Given the description of an element on the screen output the (x, y) to click on. 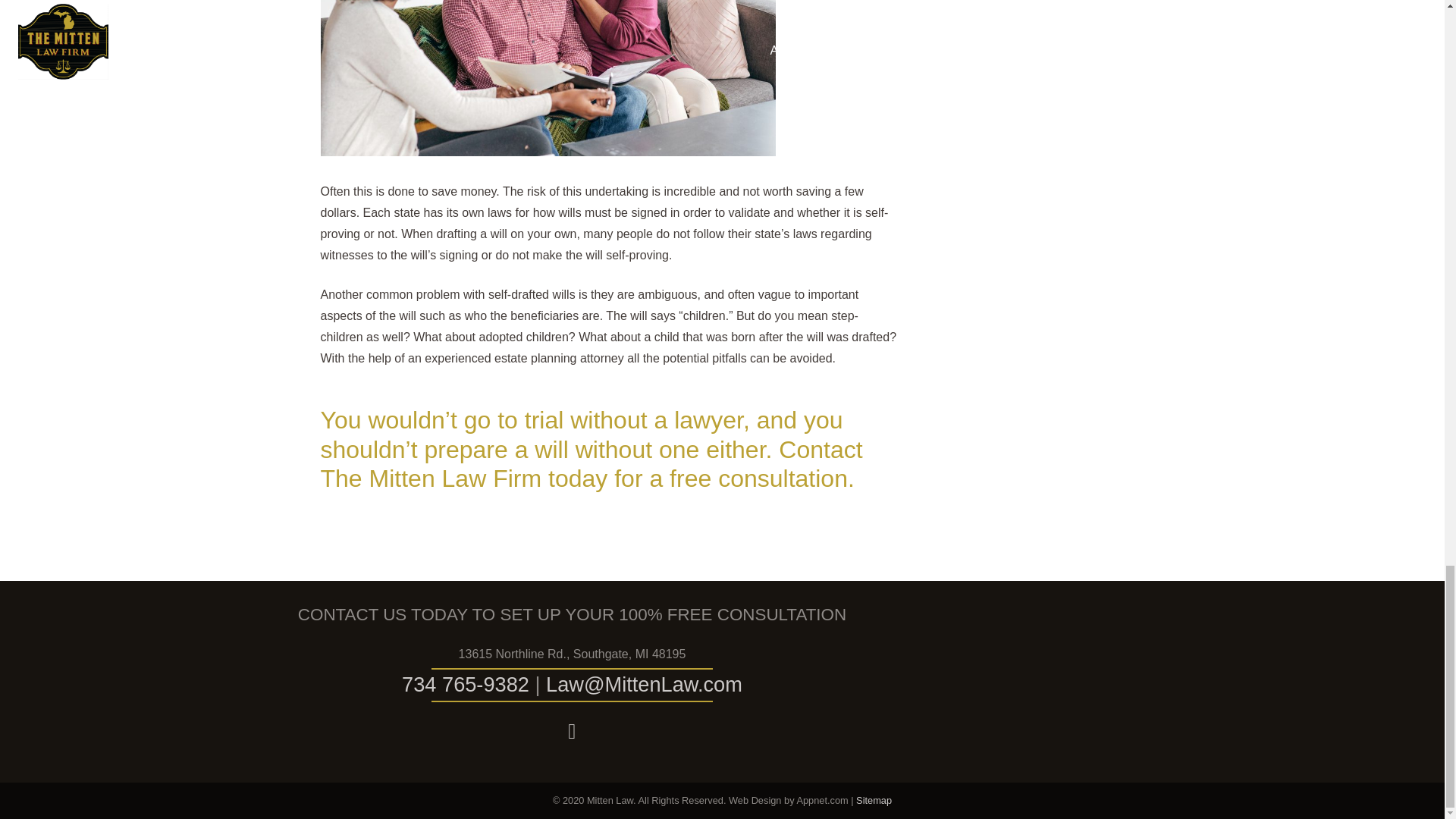
Facebook (571, 731)
Sitemap (873, 799)
734 765-9382 (465, 684)
